Given the description of an element on the screen output the (x, y) to click on. 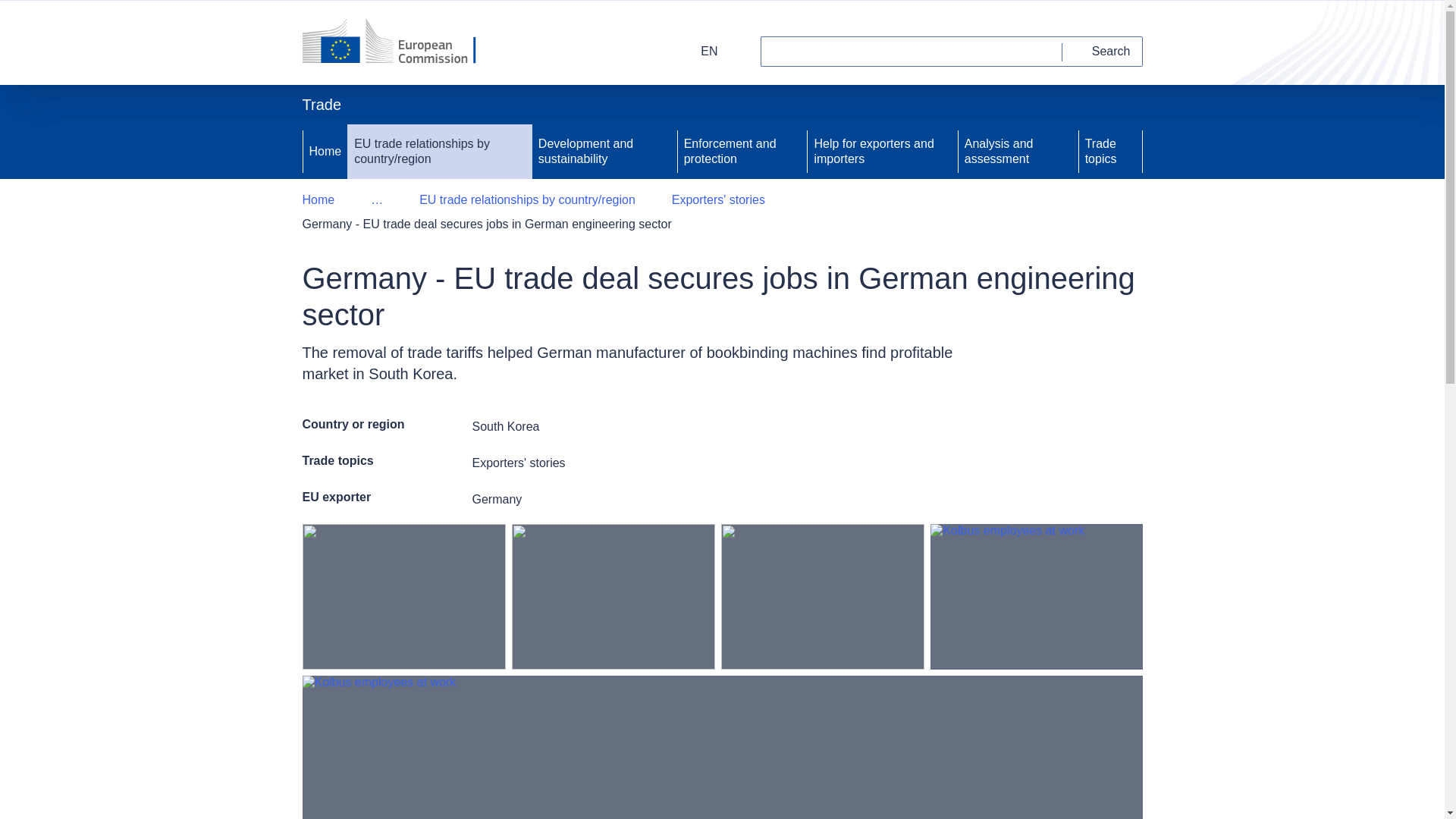
Home (317, 199)
Help for exporters and importers (882, 151)
Exporters' stories (718, 199)
Search (1102, 51)
Trade topics (1109, 151)
European Commission (399, 42)
Enforcement and protection (743, 151)
Development and sustainability (604, 151)
EN (699, 51)
